Given the description of an element on the screen output the (x, y) to click on. 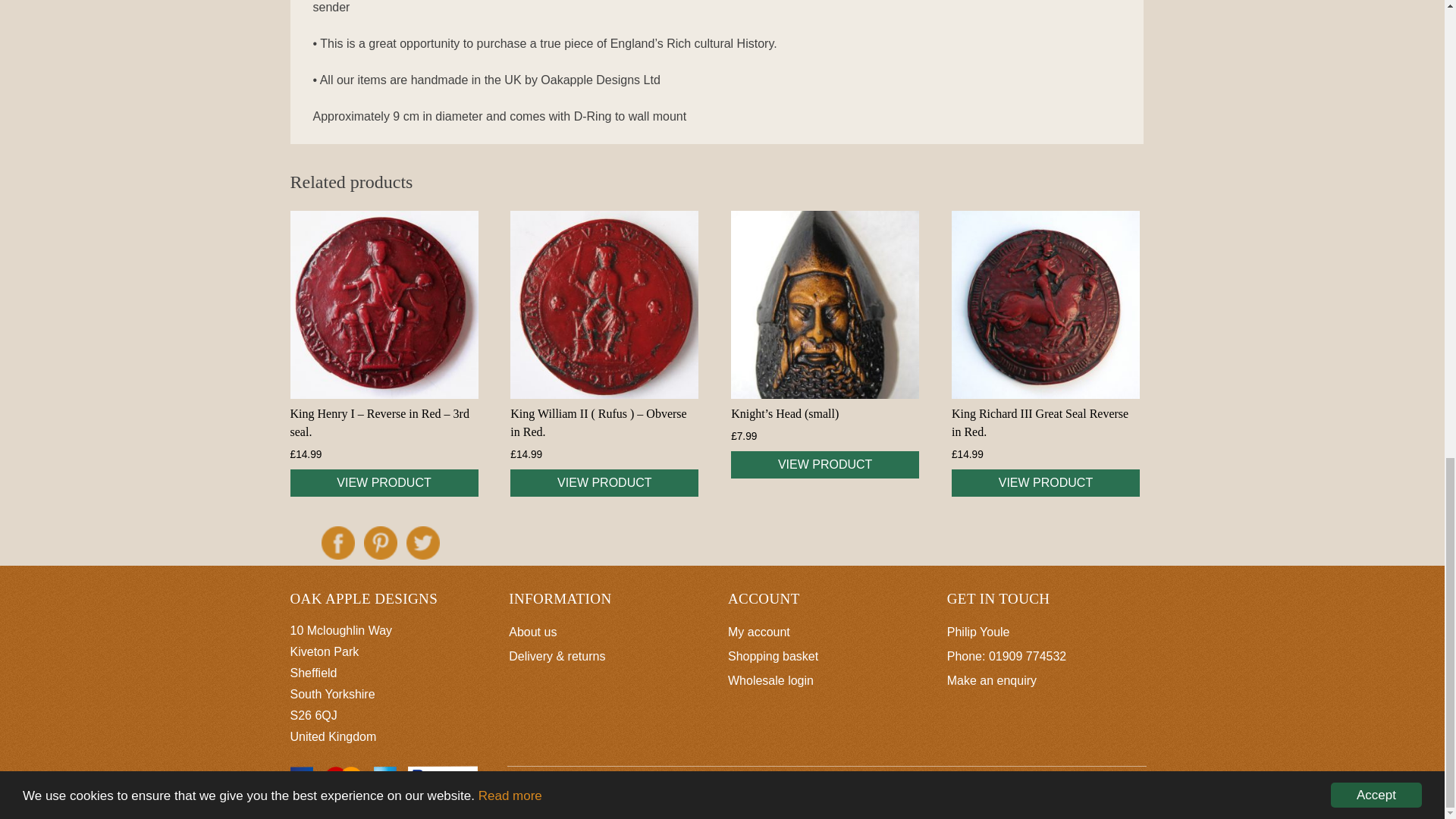
facebook (338, 542)
twitter (422, 542)
VIEW PRODUCT (383, 482)
VIEW PRODUCT (824, 464)
pinterest (380, 542)
VIEW PRODUCT (604, 482)
